Given the description of an element on the screen output the (x, y) to click on. 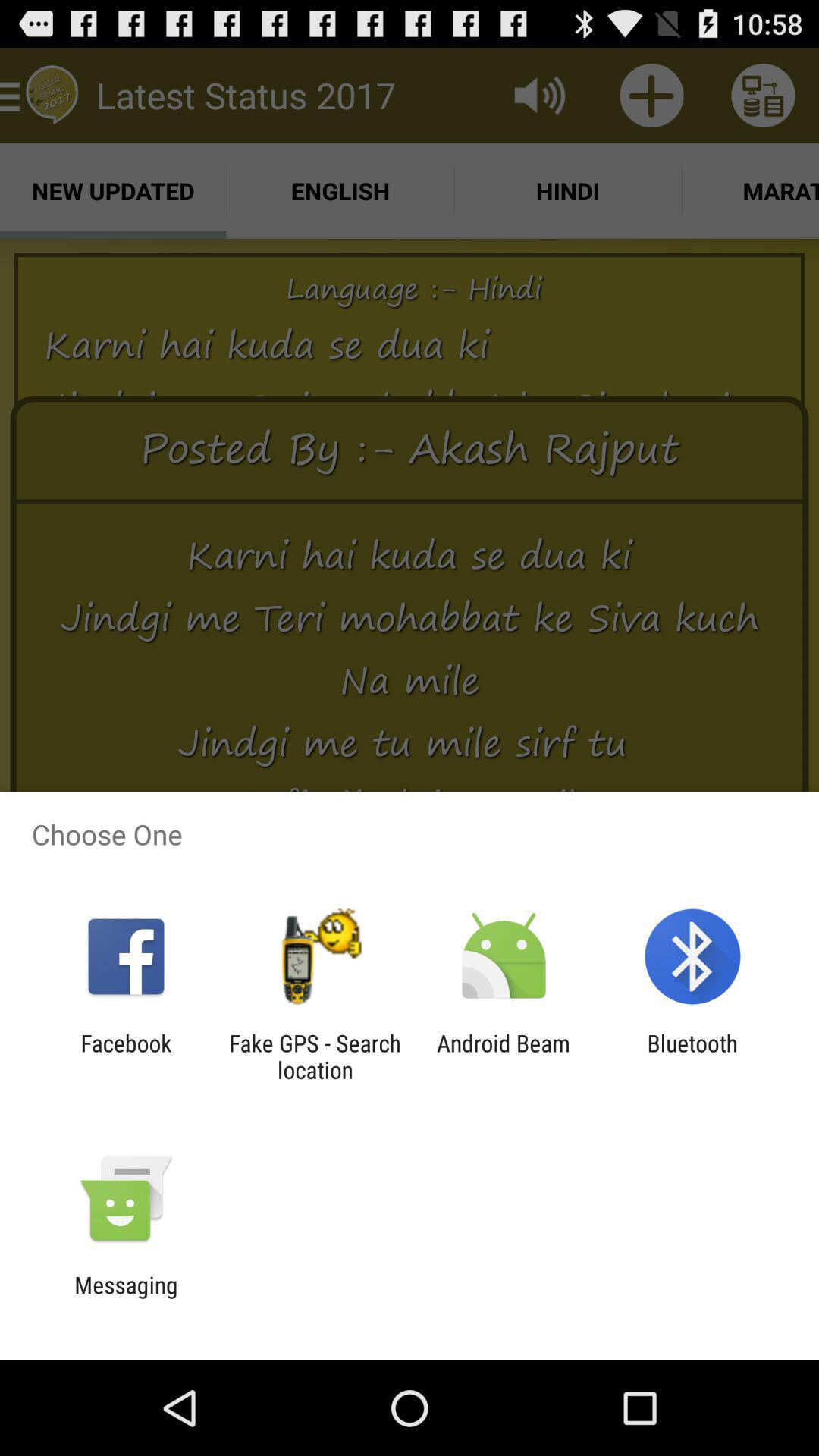
open app next to bluetooth item (503, 1056)
